Given the description of an element on the screen output the (x, y) to click on. 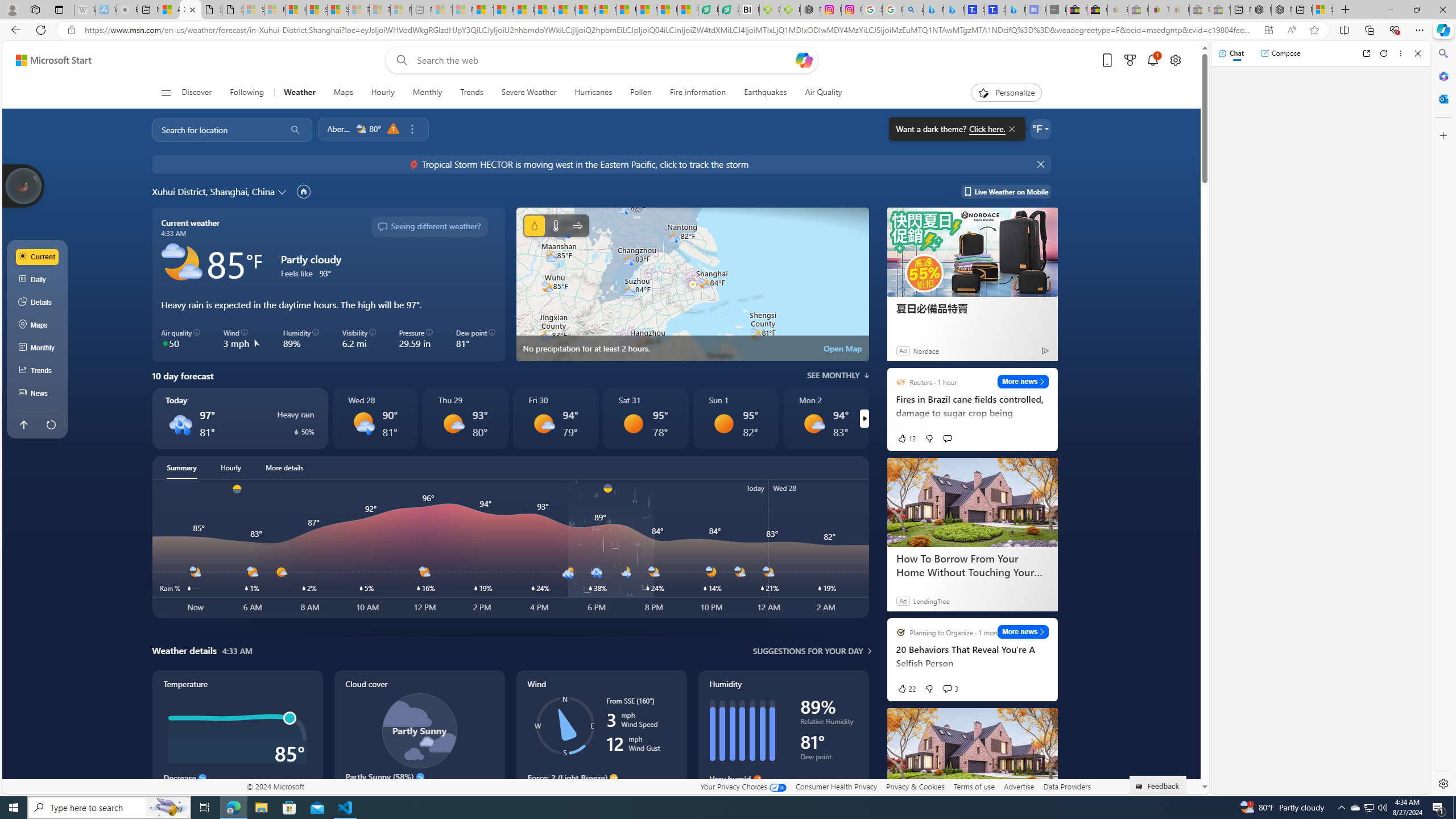
Switch right (864, 418)
Skip to footer (46, 59)
Nordace - Nordace Edin Collection (809, 9)
Xuhui District, Shanghai, China (213, 191)
Open navigation menu (164, 92)
Safety in Our Products - Google Safety Center (871, 9)
Decrease (202, 777)
Ad (902, 601)
